Given the description of an element on the screen output the (x, y) to click on. 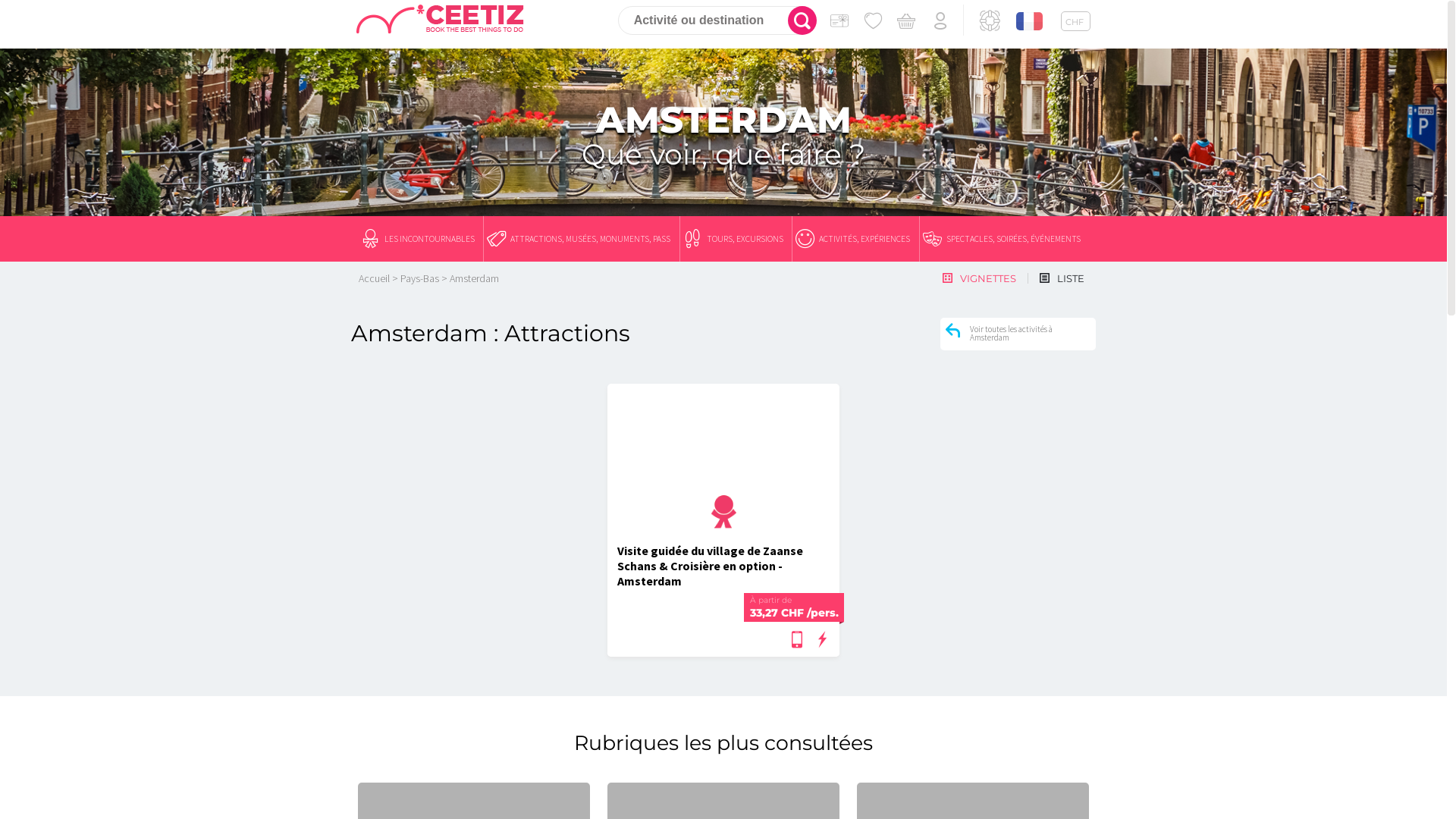
VIGNETTES Element type: text (979, 278)
Accueil Element type: text (373, 278)
Pays-Bas Element type: text (419, 278)
CHF Element type: text (1075, 21)
Amsterdam Element type: text (473, 278)
AMSTERDAM
Que voir, que faire ? Element type: text (723, 133)
TOURS, EXCURSIONS Element type: text (736, 238)
LISTE Element type: text (1061, 278)
LES INCONTOURNABLES Element type: text (420, 238)
